Given the description of an element on the screen output the (x, y) to click on. 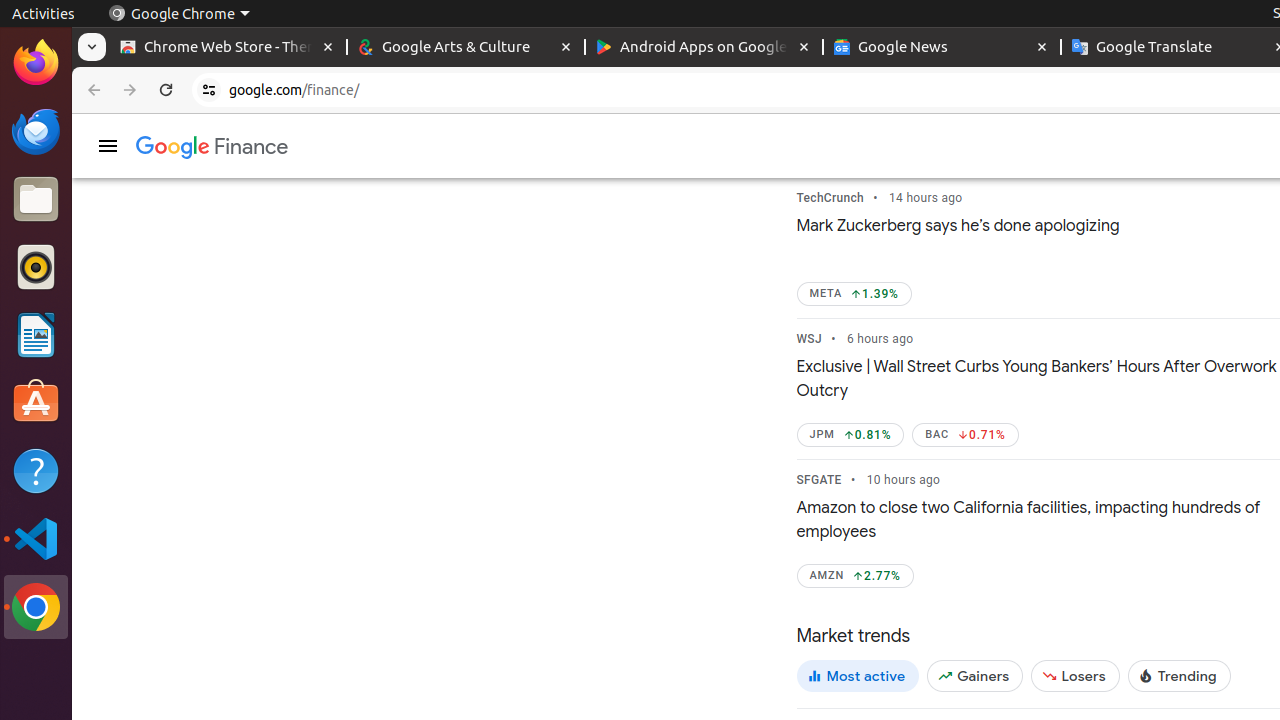
Google Chrome Element type: push-button (36, 607)
Rhythmbox Element type: push-button (36, 267)
Help Element type: push-button (36, 470)
Visual Studio Code Element type: push-button (36, 538)
Thunderbird Mail Element type: push-button (36, 131)
